Given the description of an element on the screen output the (x, y) to click on. 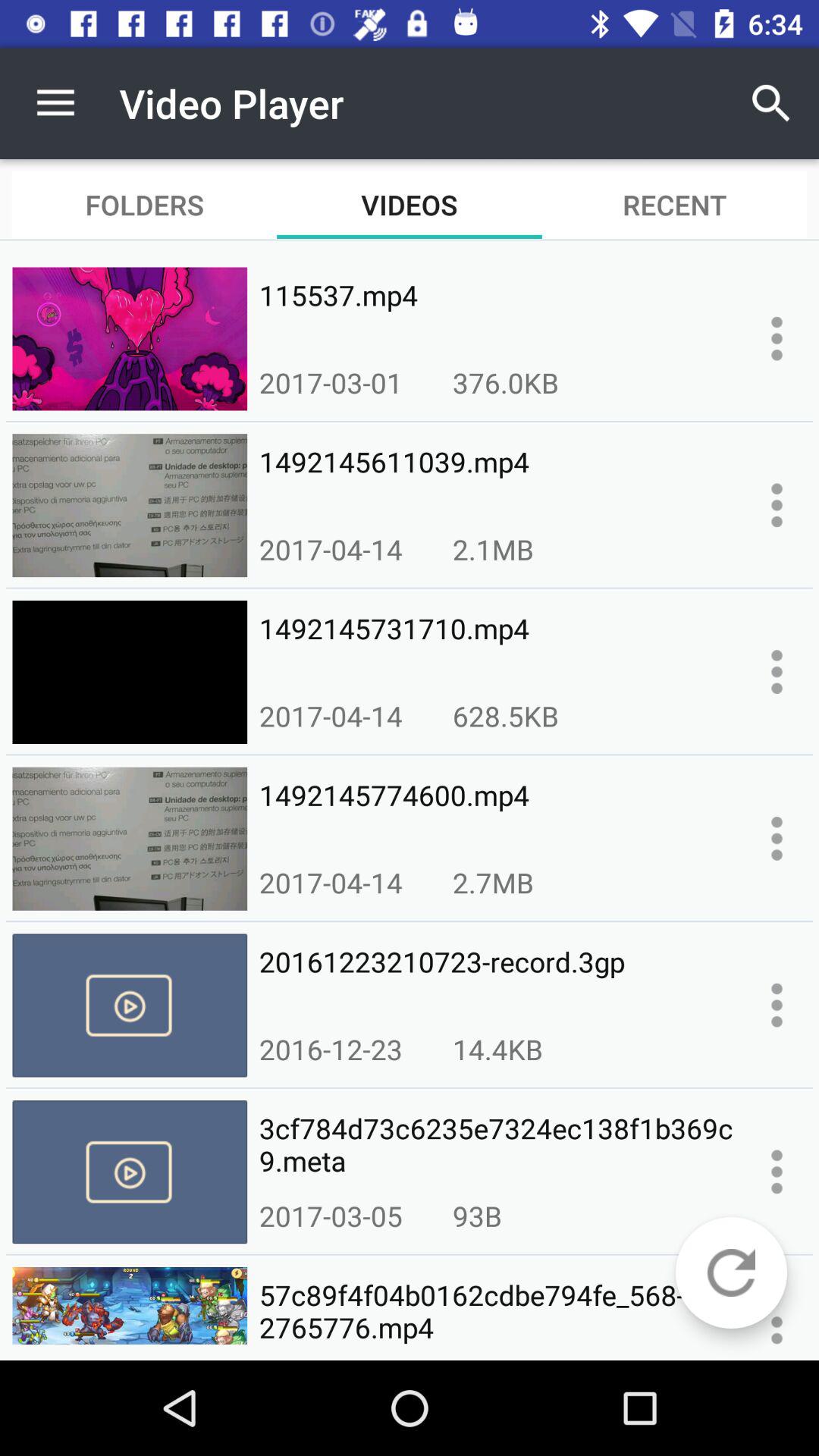
choose the 93b item (477, 1215)
